Given the description of an element on the screen output the (x, y) to click on. 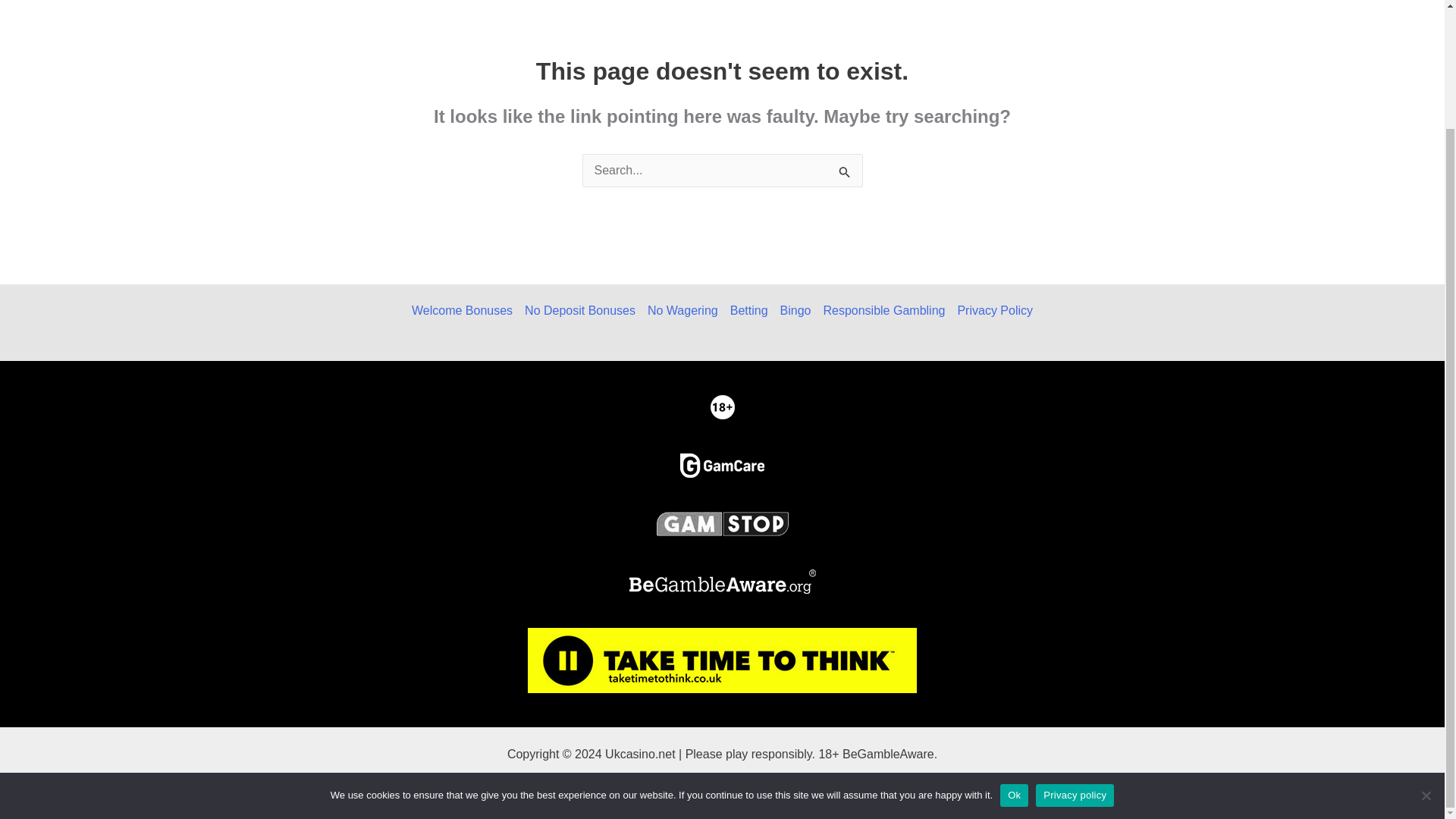
No (1425, 653)
